Given the description of an element on the screen output the (x, y) to click on. 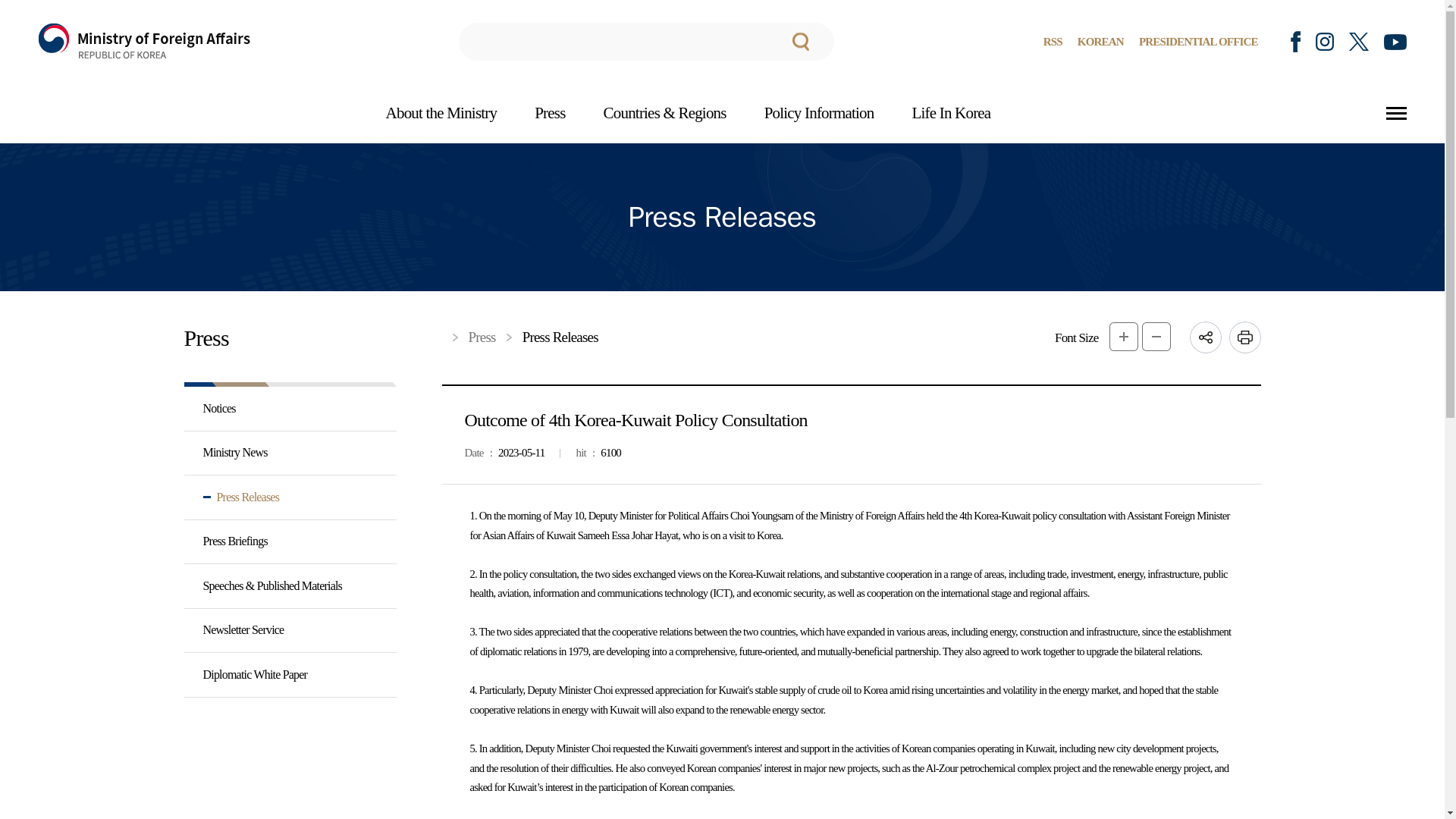
new window (1358, 41)
new window (1395, 41)
RSS (1052, 41)
PRESIDENTIAL OFFICE (1197, 41)
search (646, 41)
KOREAN (1100, 41)
About the Ministry (441, 113)
new window (1324, 41)
Press (549, 113)
